Given the description of an element on the screen output the (x, y) to click on. 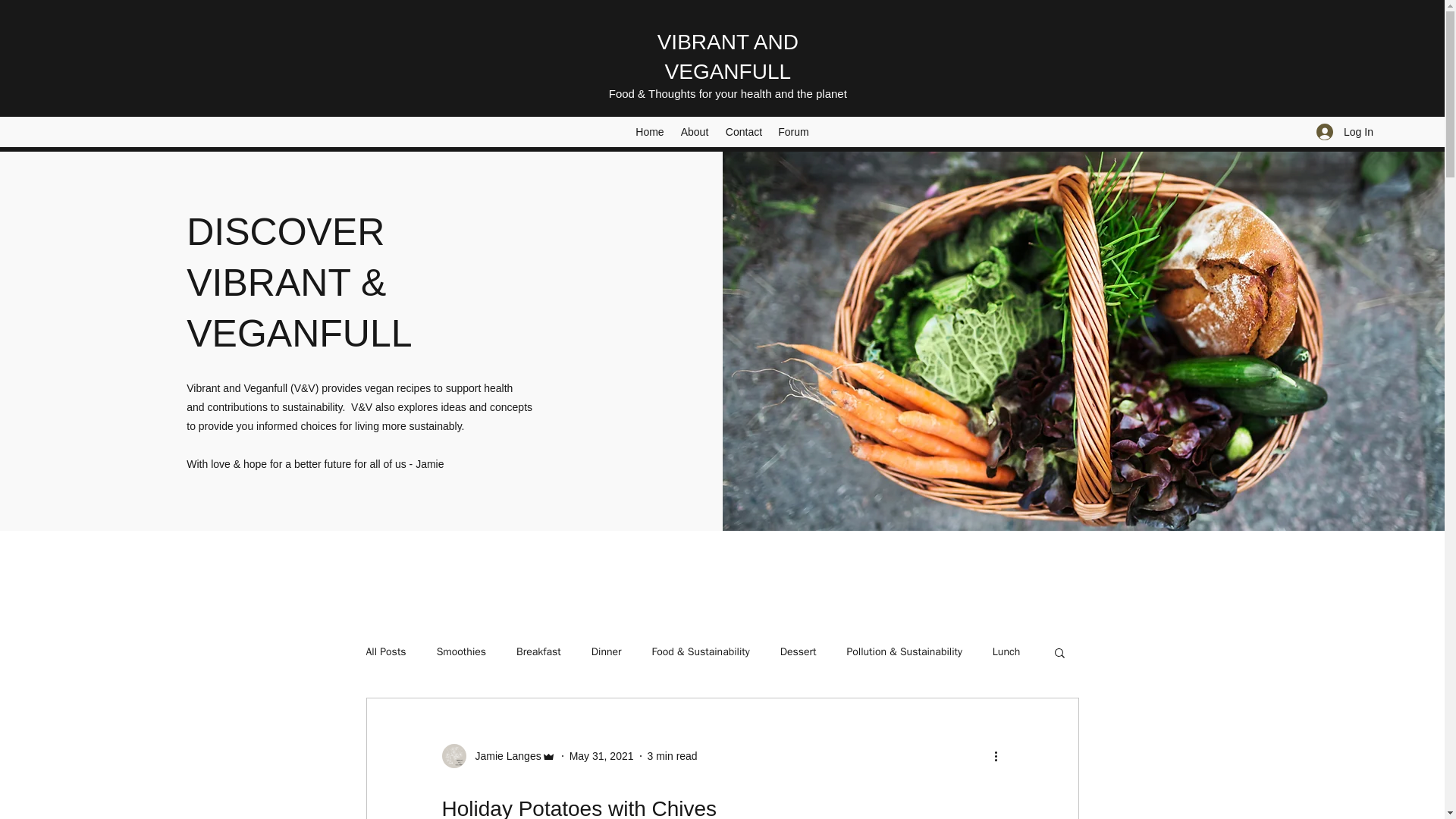
Home (649, 131)
Jamie Langes (497, 755)
Forum (793, 131)
About (694, 131)
Log In (1345, 131)
Lunch (1006, 652)
Smoothies (461, 652)
3 min read (672, 756)
Dessert (798, 652)
All Posts (385, 652)
Breakfast (538, 652)
Dinner (606, 652)
May 31, 2021 (601, 756)
Contact (743, 131)
Jamie Langes (502, 756)
